Given the description of an element on the screen output the (x, y) to click on. 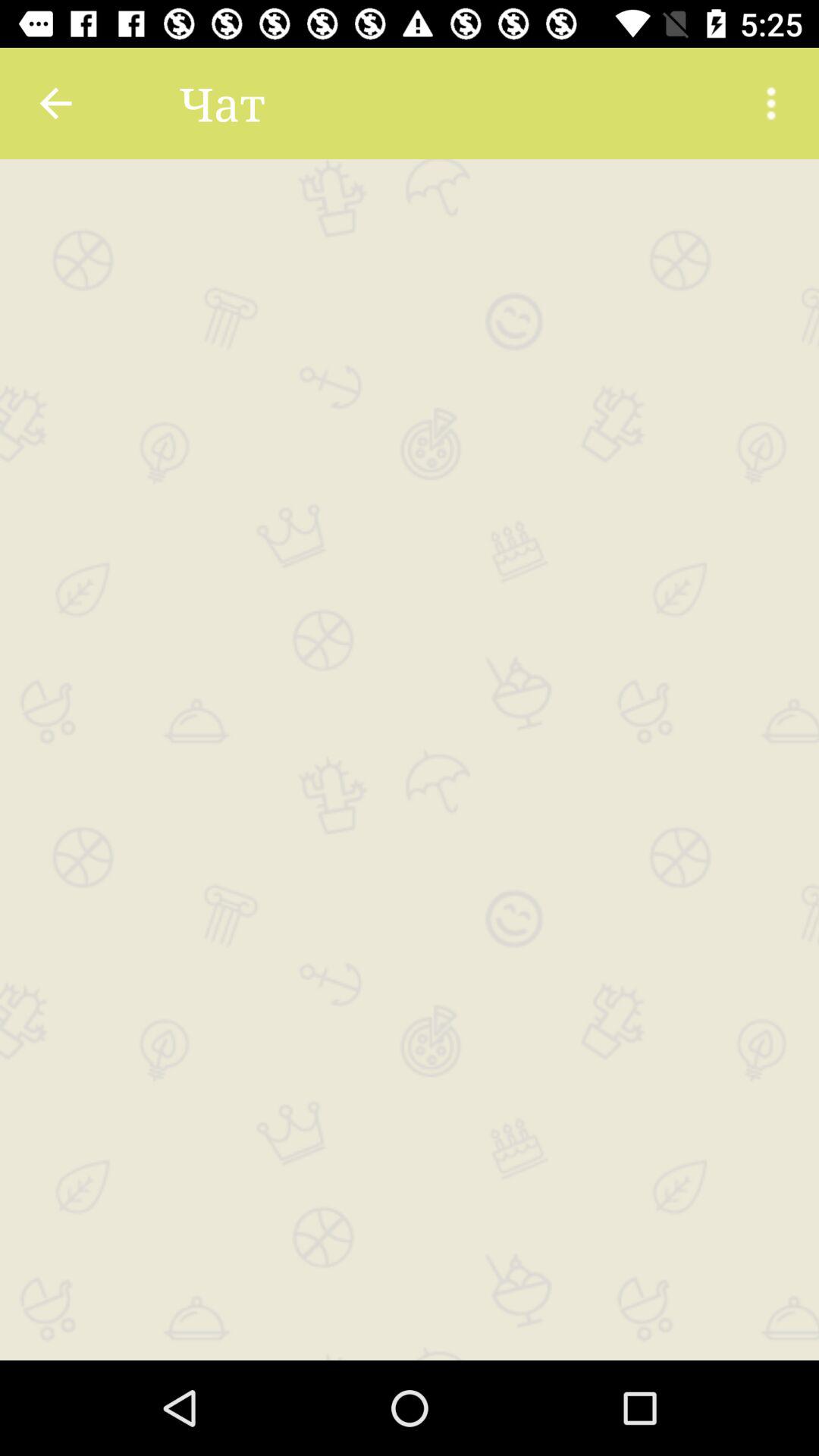
more information (771, 103)
